Given the description of an element on the screen output the (x, y) to click on. 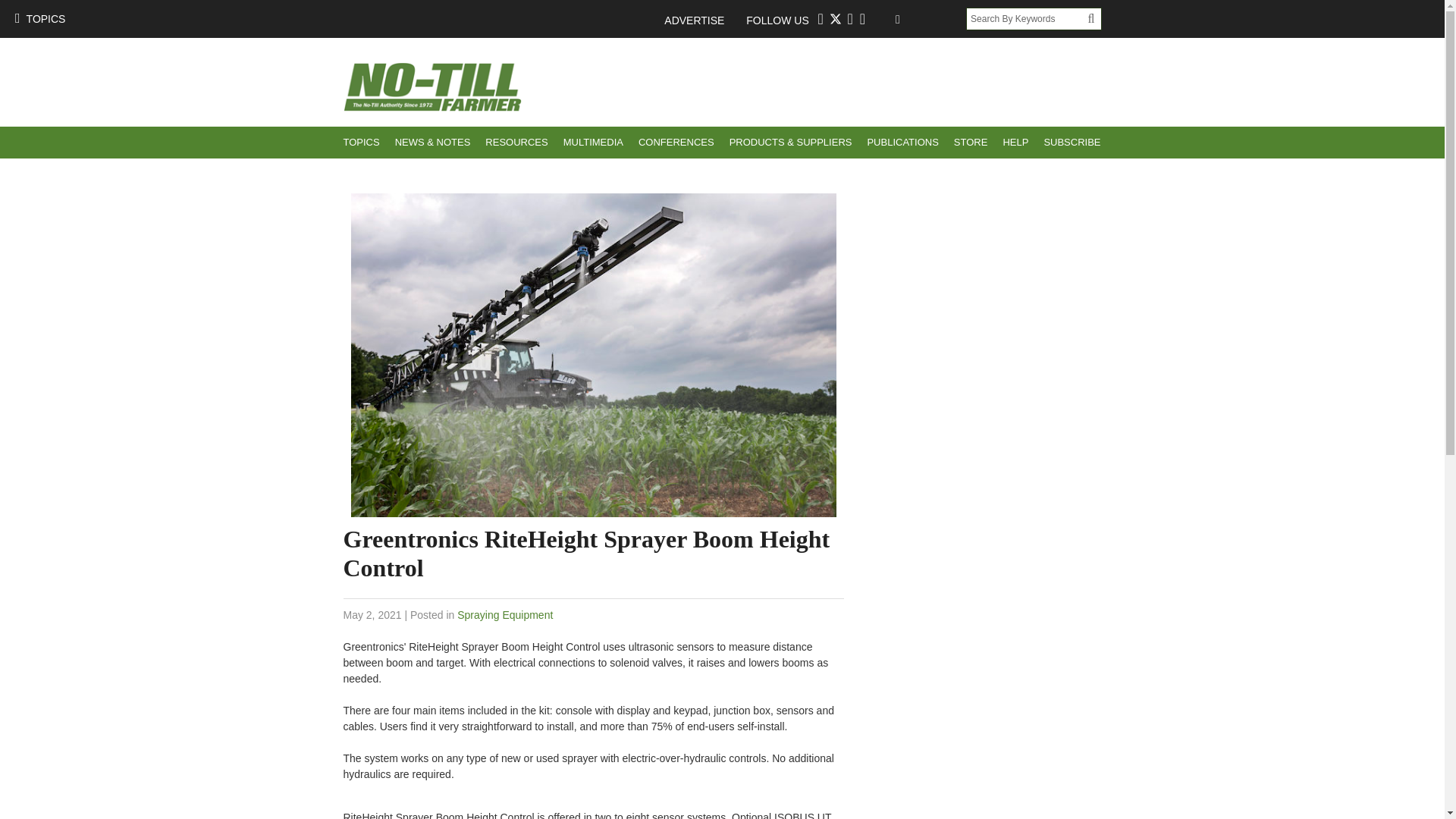
TOPICS (39, 18)
Search By Keywords (1026, 18)
Search By Keywords (1026, 18)
TOPICS (360, 142)
ADVERTISE (701, 20)
